Given the description of an element on the screen output the (x, y) to click on. 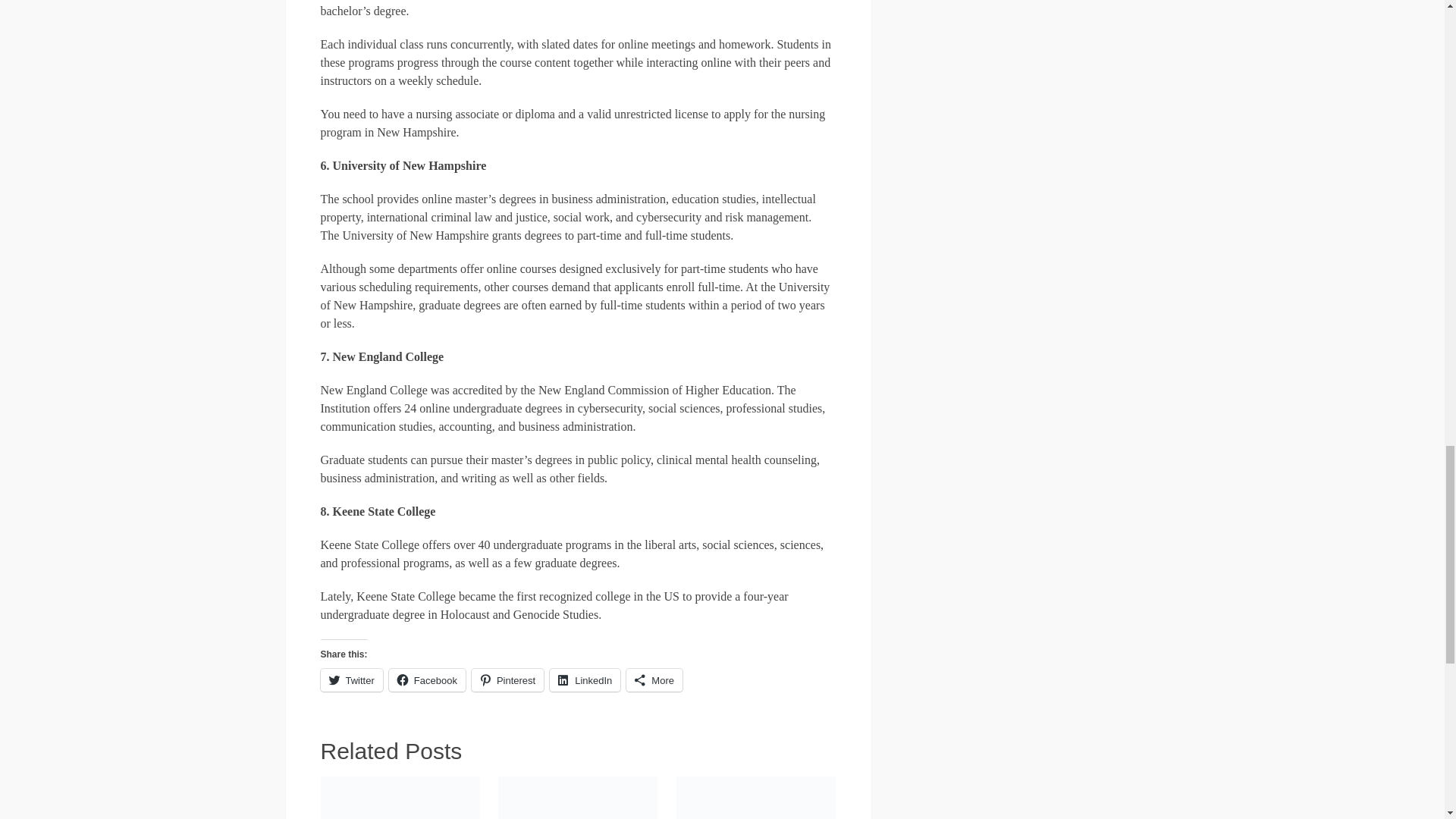
Pinterest (507, 680)
Top 10 PhD Universities in UK for International Students (399, 797)
Best Online 4-6 Week Certificate Programs that Pay Well (577, 797)
Top 10 PhD Universities in UK for International Students (399, 797)
LinkedIn (585, 680)
Best Community Colleges in Maryland (756, 797)
Click to share on Pinterest (507, 680)
Best Online 4-6 Week Certificate Programs that Pay Well (577, 797)
Twitter (350, 680)
Facebook (426, 680)
Click to share on Twitter (350, 680)
Click to share on LinkedIn (585, 680)
Best Community Colleges in Maryland (756, 797)
Click to share on Facebook (426, 680)
More (654, 680)
